Given the description of an element on the screen output the (x, y) to click on. 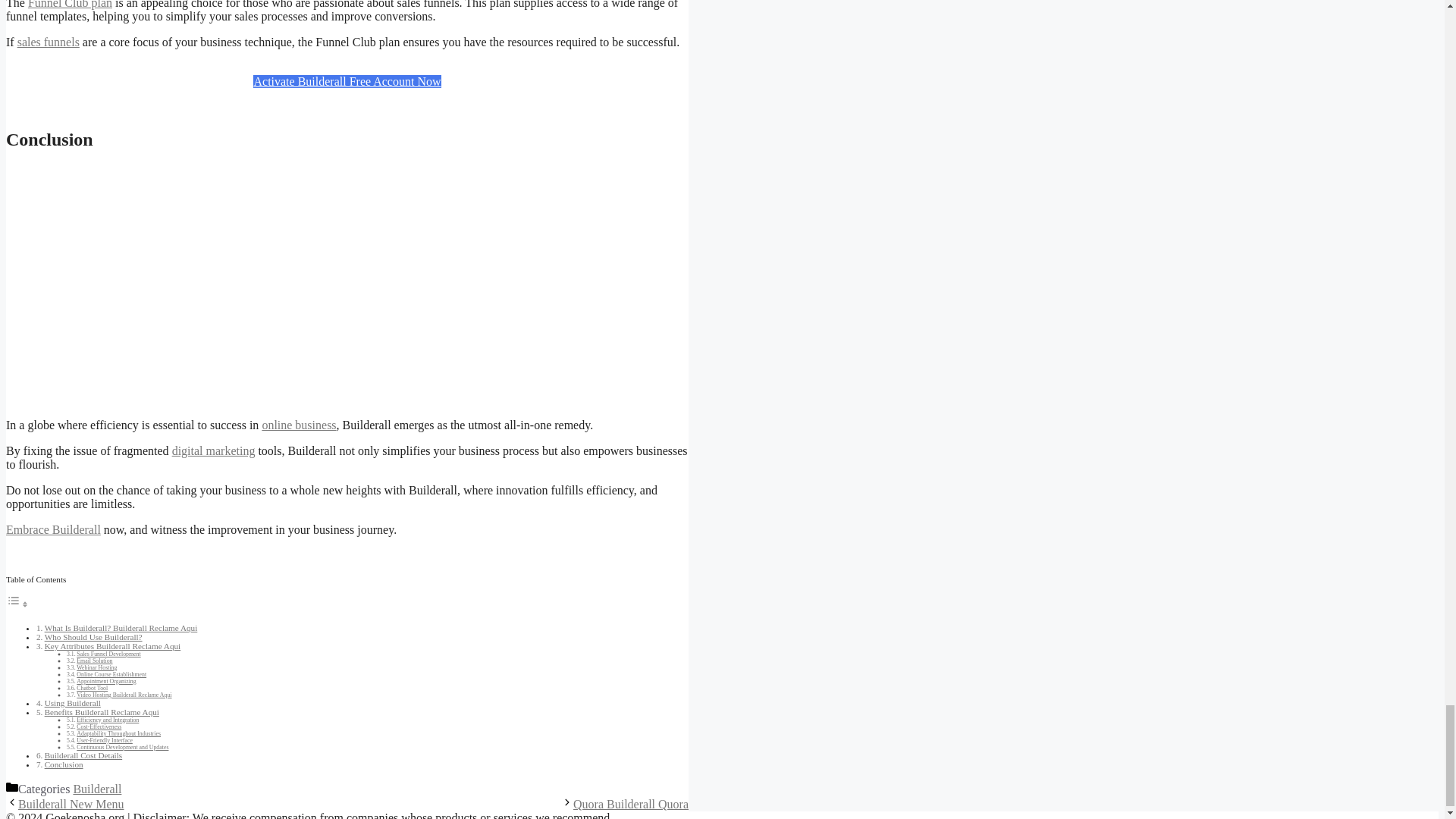
Benefits Builderall Reclame Aqui (101, 711)
Email Solution (94, 660)
Using Builderall (72, 702)
Funnel Club plan (69, 4)
Webinar Hosting (96, 667)
Online Course Establishment (112, 674)
User-Friendly Interface (104, 740)
What Is Builderall? Builderall Reclame Aqui (121, 627)
digital marketing (213, 450)
What Is Builderall? Builderall Reclame Aqui (121, 627)
